Given the description of an element on the screen output the (x, y) to click on. 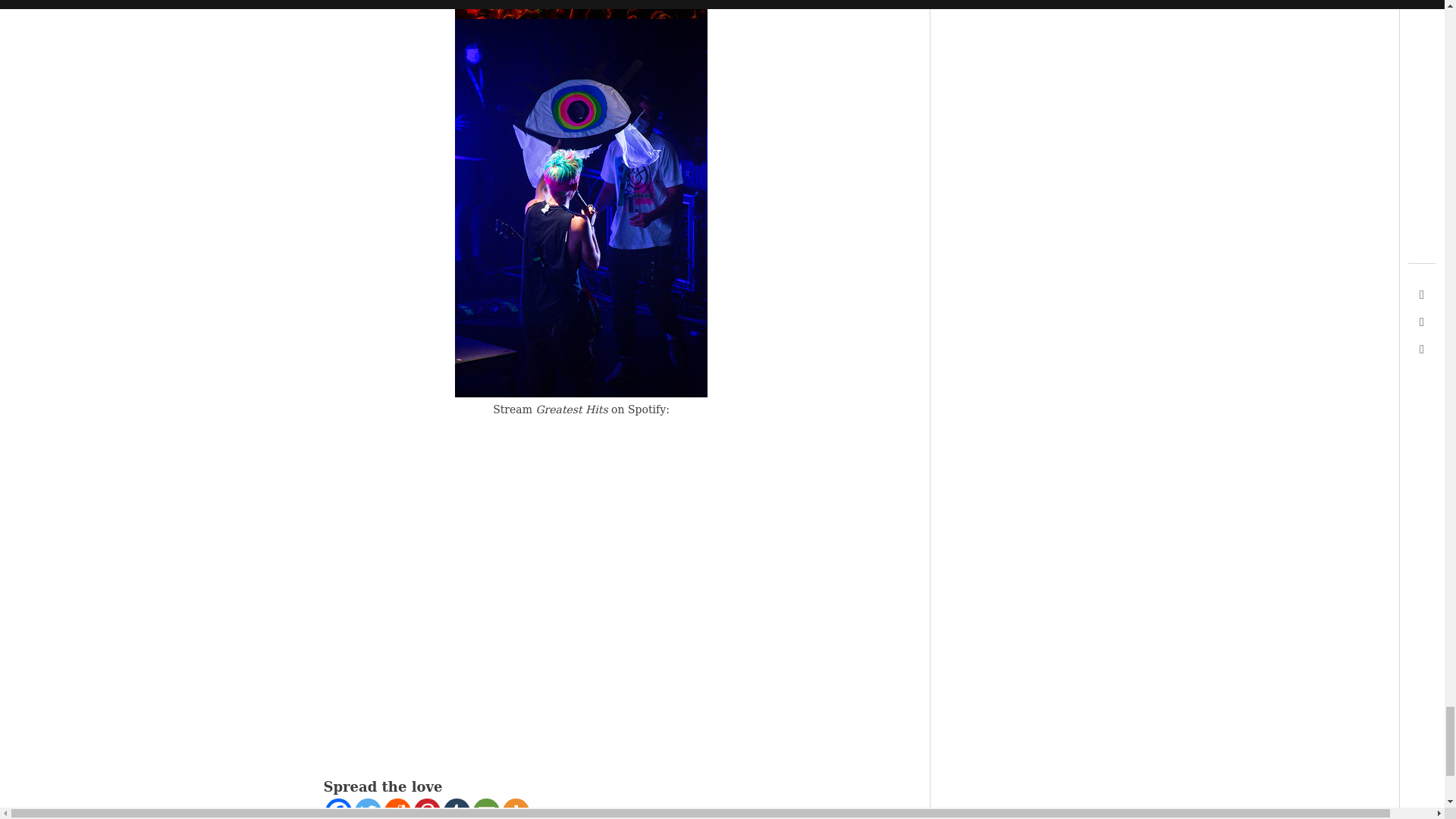
Facebook (337, 808)
Email (486, 808)
Tumblr (455, 808)
Reddit (397, 808)
More (515, 808)
Twitter (368, 808)
Pinterest (427, 808)
